Given the description of an element on the screen output the (x, y) to click on. 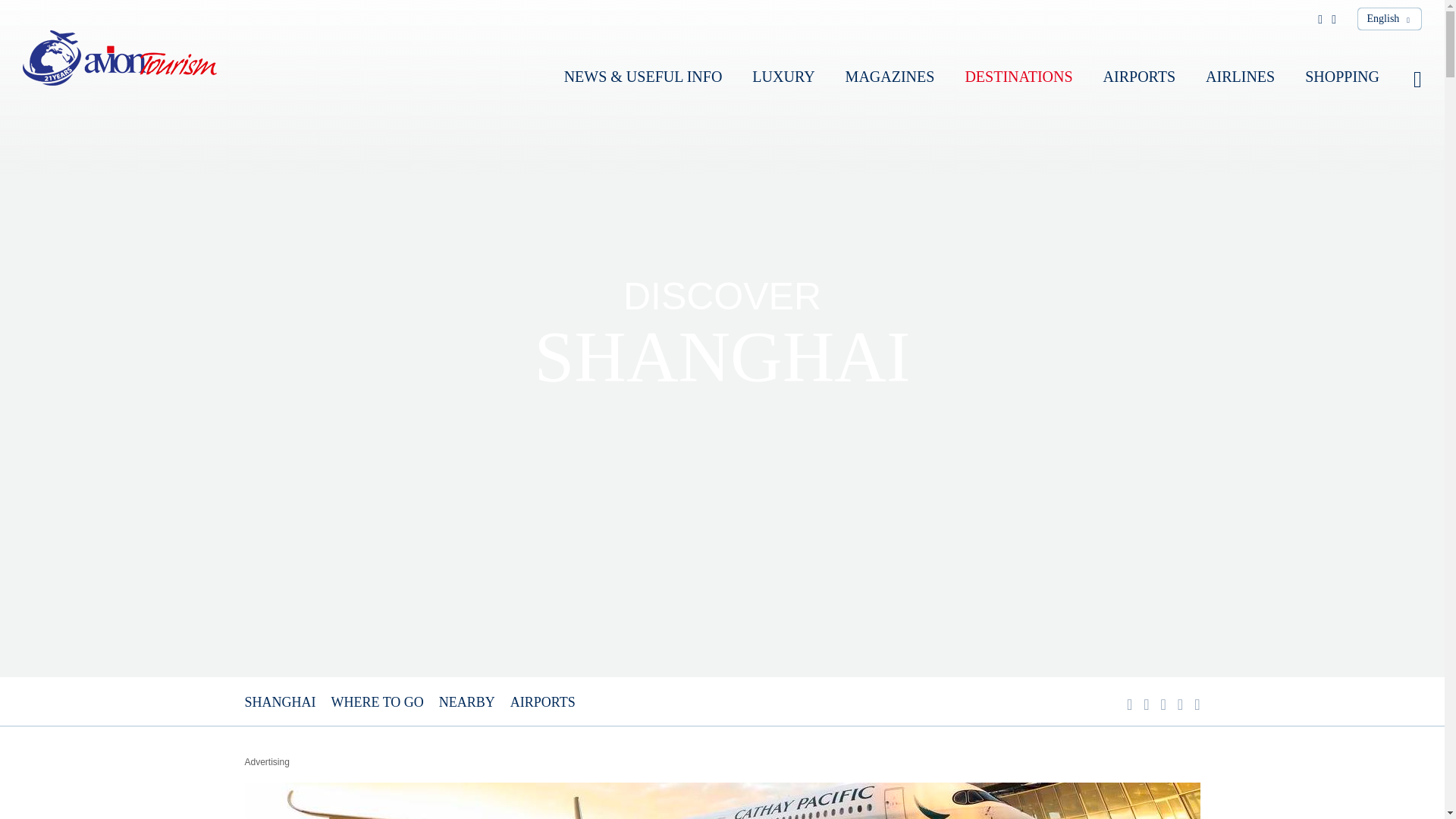
Italiano (1391, 39)
LUXURY (782, 76)
DESTINATIONS (1017, 76)
AIRPORTS (543, 702)
AIRPORTS (1139, 76)
SHANGHAI (279, 702)
WHERE TO GO (376, 702)
MAGAZINES (889, 76)
NEARBY (467, 702)
AIRLINES (1240, 76)
